Given the description of an element on the screen output the (x, y) to click on. 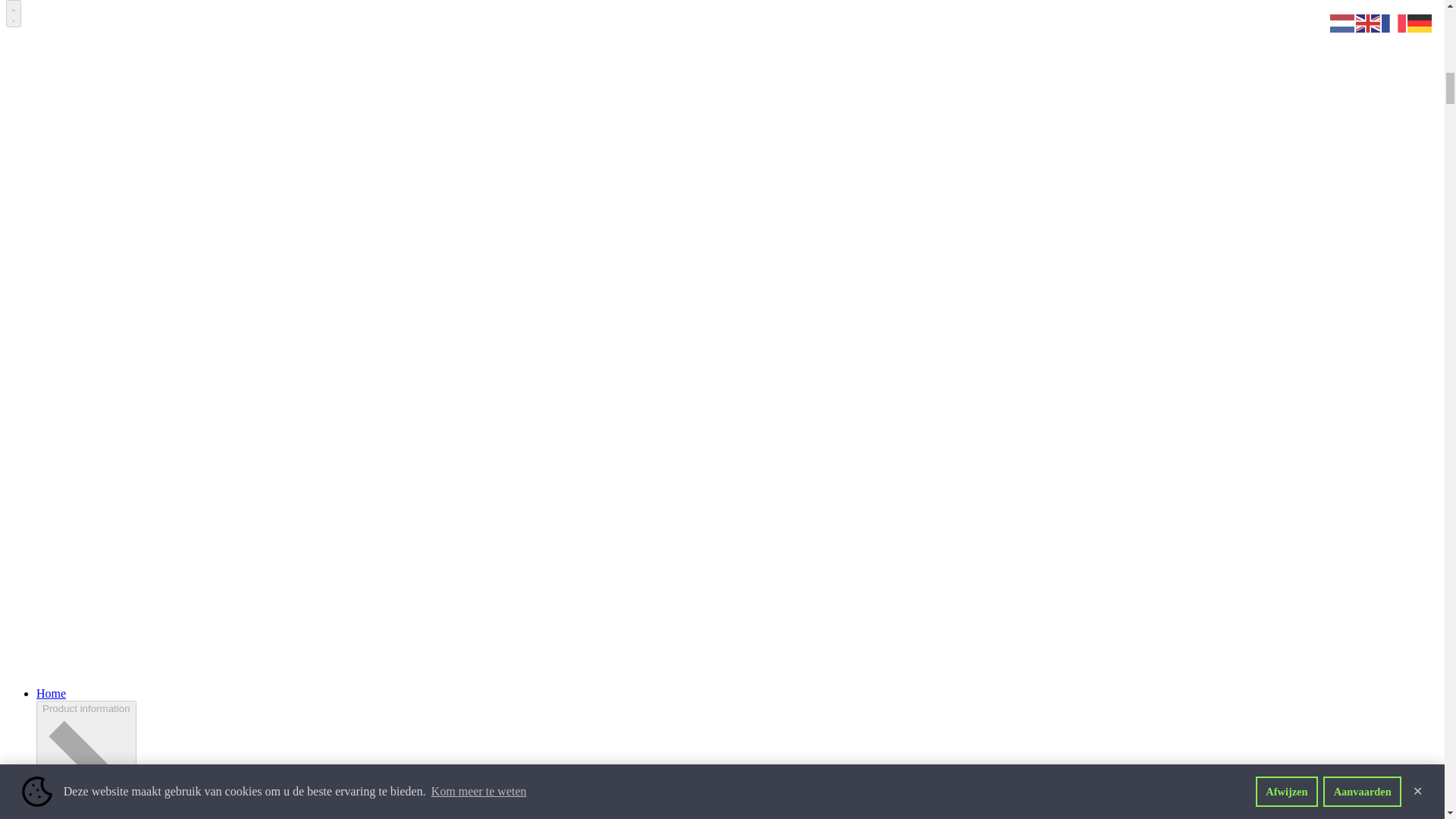
Frequently Asked Questions for Dealers (133, 4)
Manuals (57, 15)
Contact (55, 29)
